Given the description of an element on the screen output the (x, y) to click on. 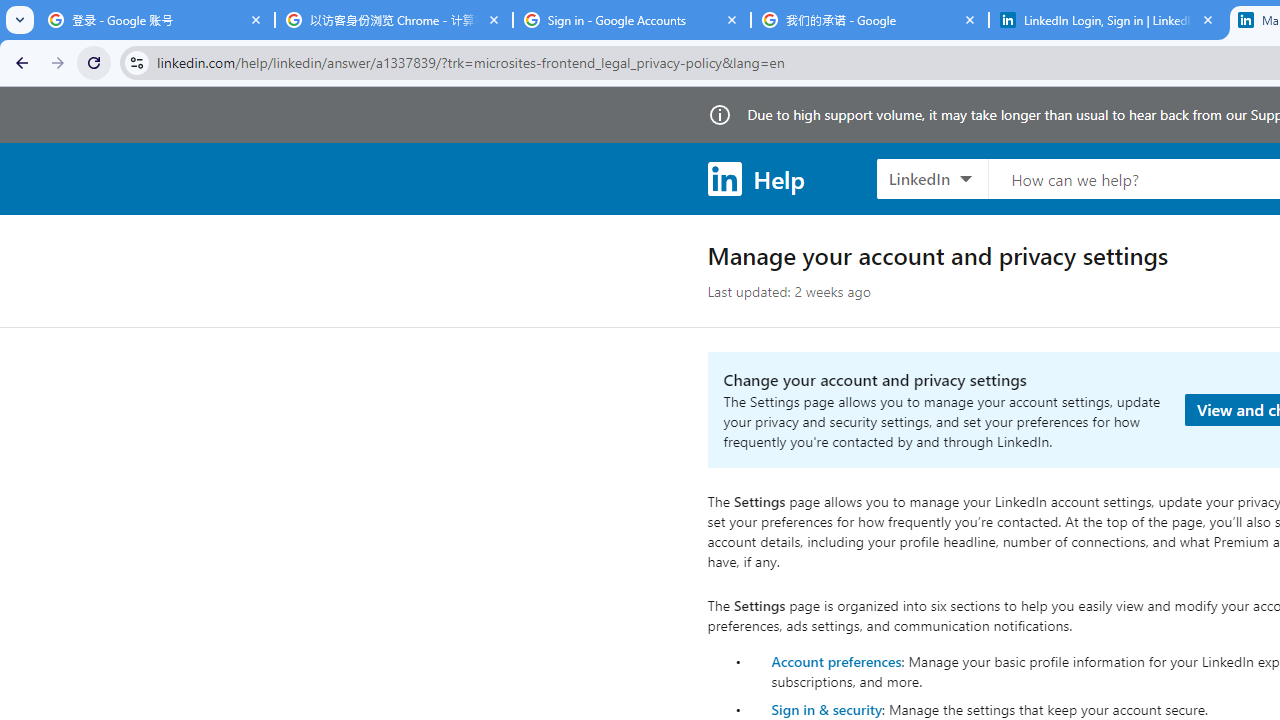
LinkedIn Login, Sign in | LinkedIn (1108, 20)
